Given the description of an element on the screen output the (x, y) to click on. 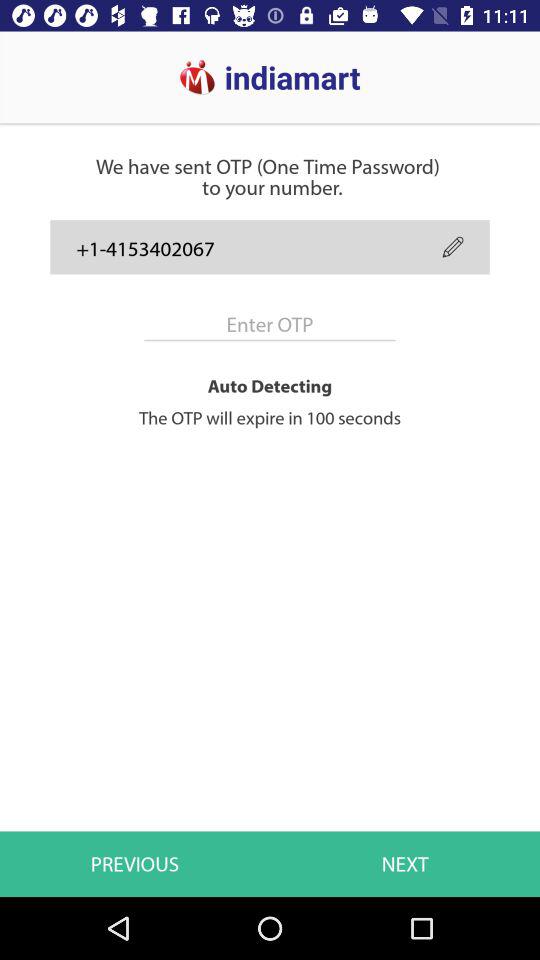
click the item at the top right corner (452, 246)
